Given the description of an element on the screen output the (x, y) to click on. 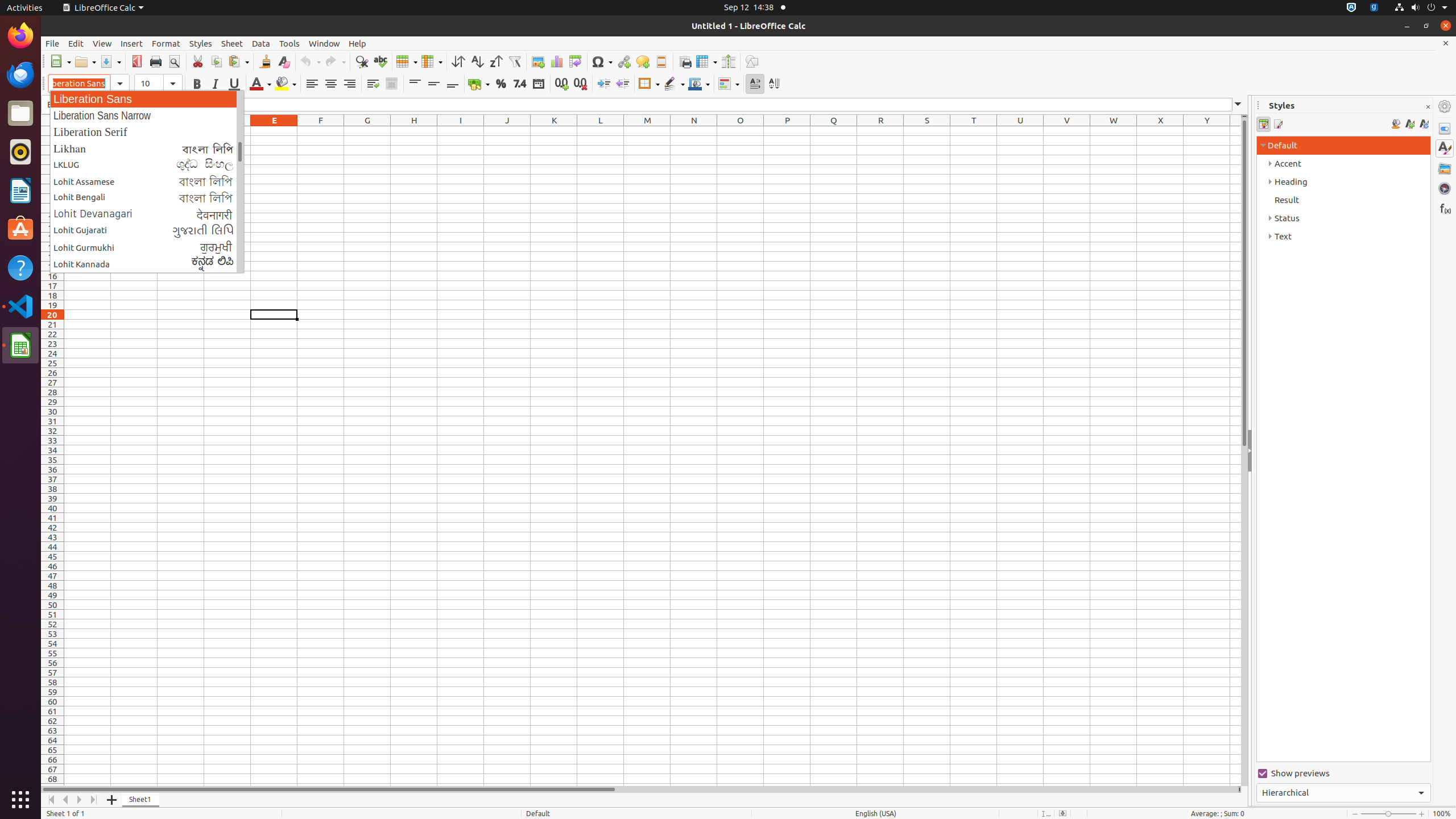
Visual Studio Code Element type: push-button (20, 306)
Lohit Gujarati Element type: list-item (146, 230)
L1 Element type: table-cell (600, 130)
Comment Element type: push-button (642, 61)
E1 Element type: table-cell (273, 130)
